Given the description of an element on the screen output the (x, y) to click on. 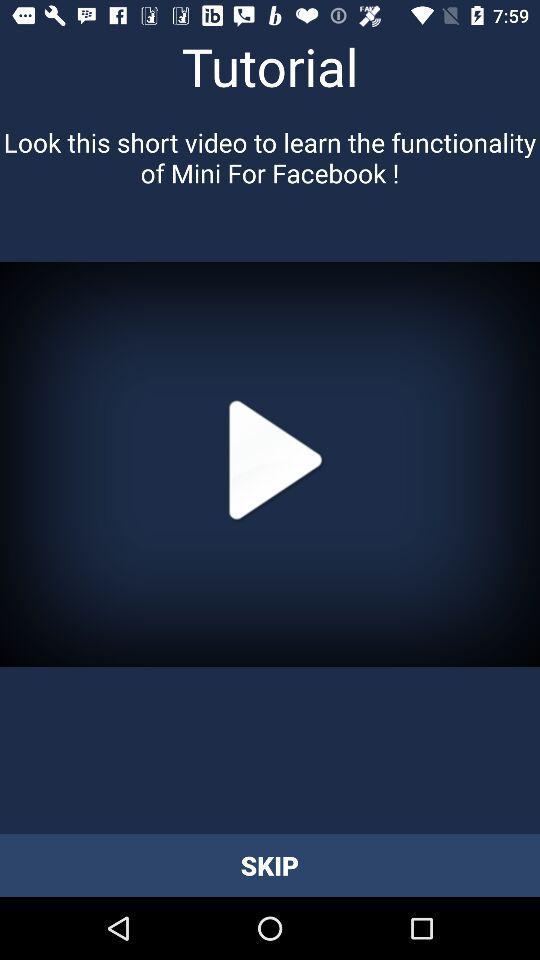
play video (270, 464)
